Given the description of an element on the screen output the (x, y) to click on. 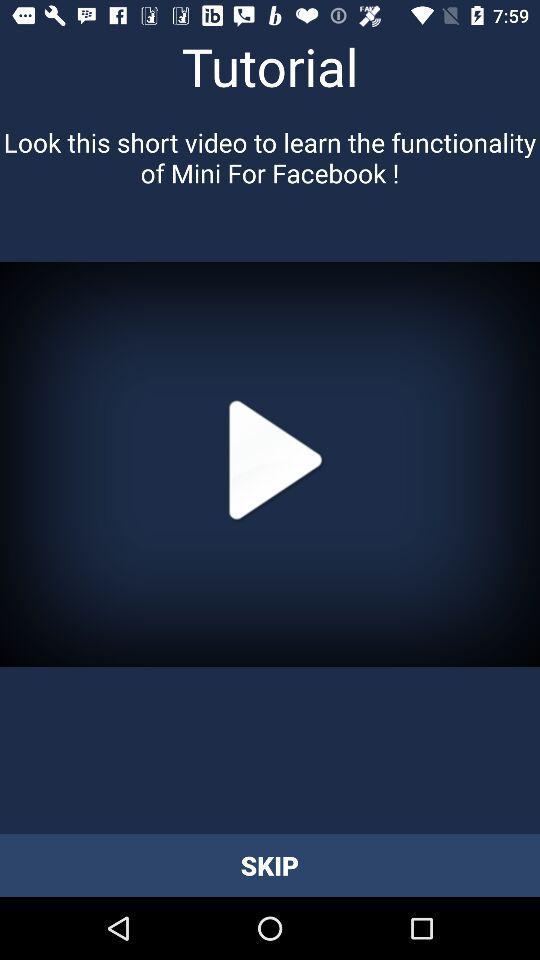
play video (270, 464)
